Given the description of an element on the screen output the (x, y) to click on. 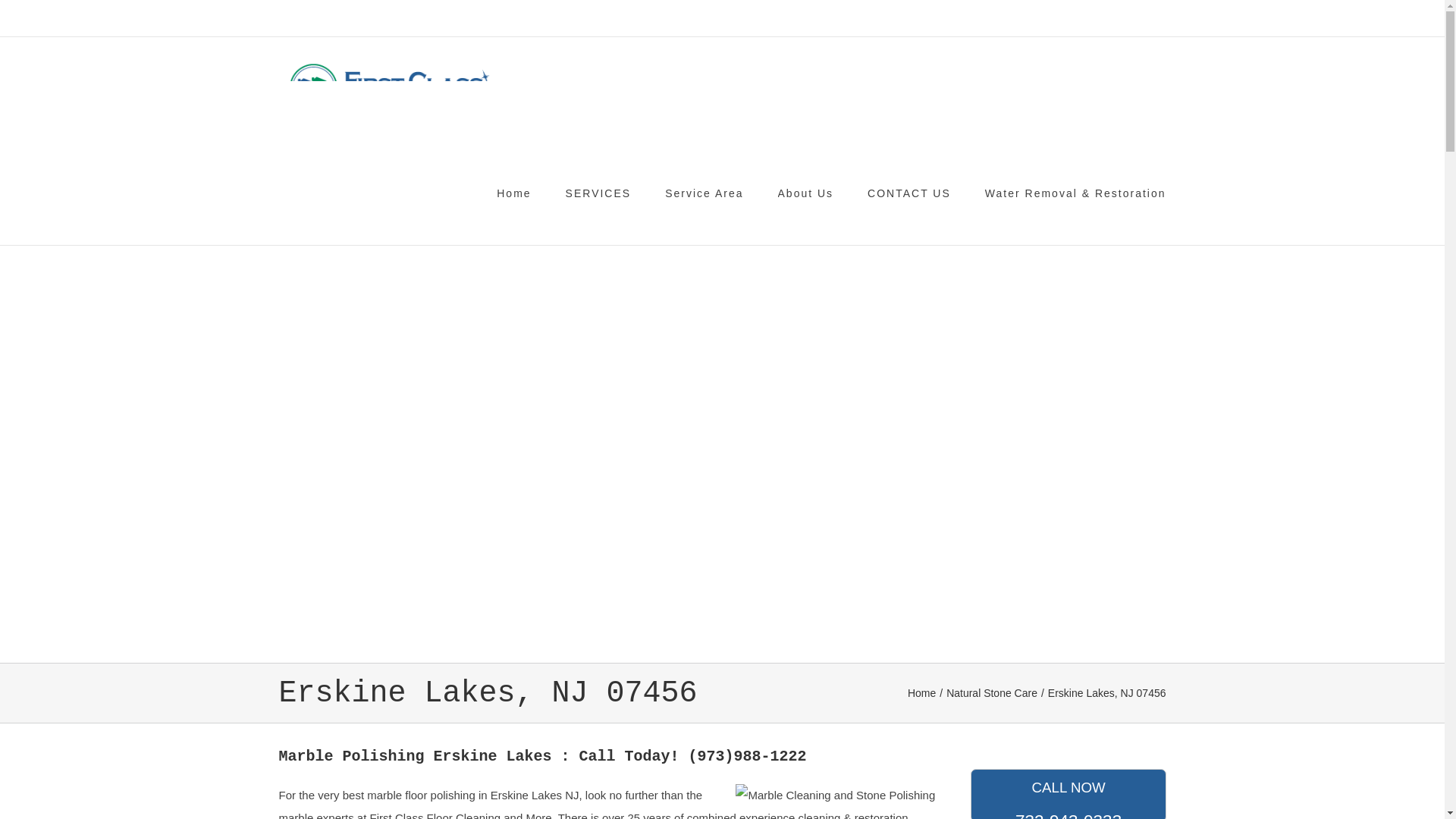
Natural Stone Care (991, 693)
Home (921, 693)
